Given the description of an element on the screen output the (x, y) to click on. 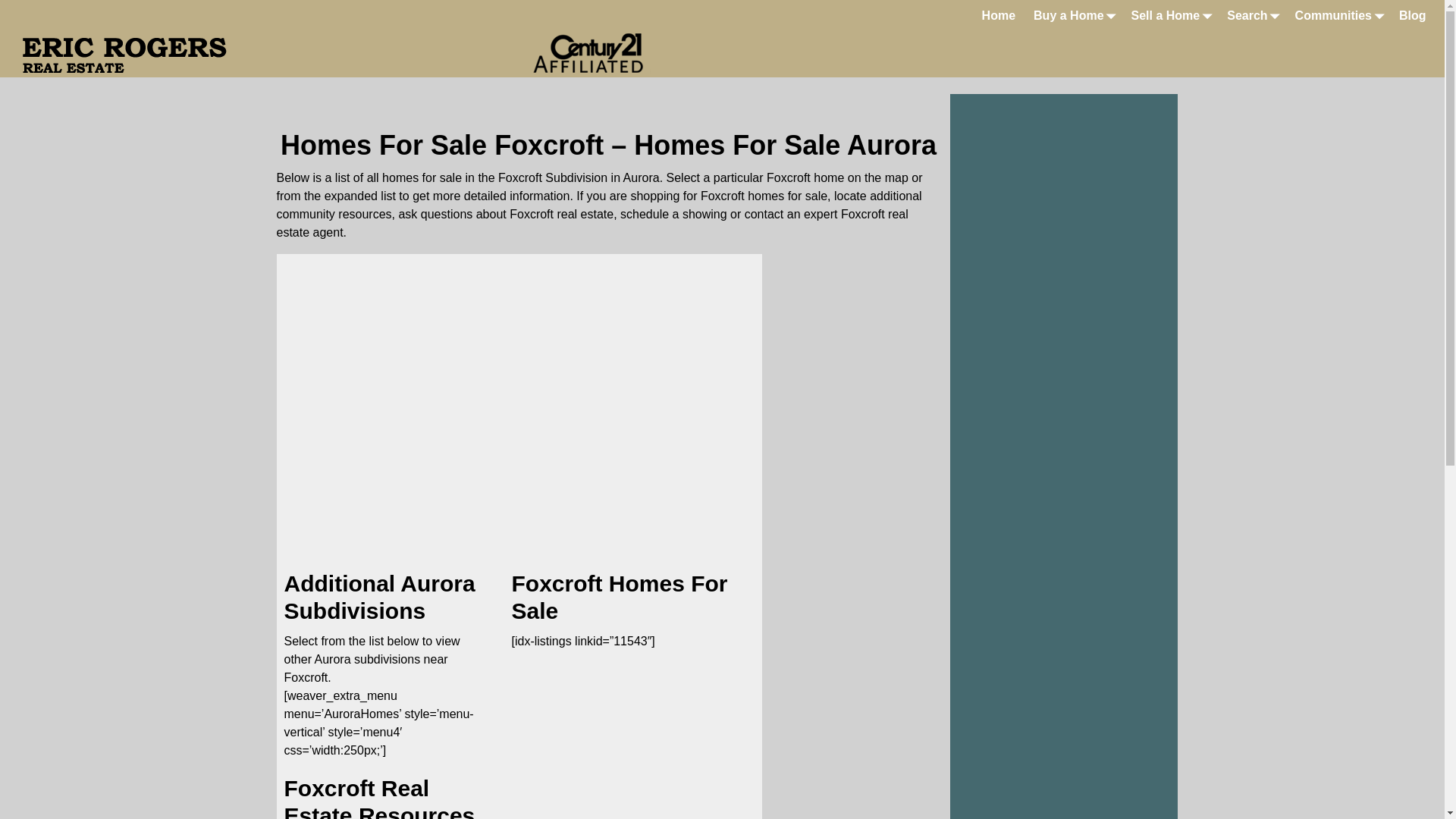
Search (1251, 15)
Sell a Home (1170, 15)
Buy a Home Illinois (1073, 15)
Blog (1412, 15)
Sell a Home Illinois (1170, 15)
Home (998, 15)
Buy a Home (1073, 15)
Communities (1337, 15)
Illinois Communities (1337, 15)
